Given the description of an element on the screen output the (x, y) to click on. 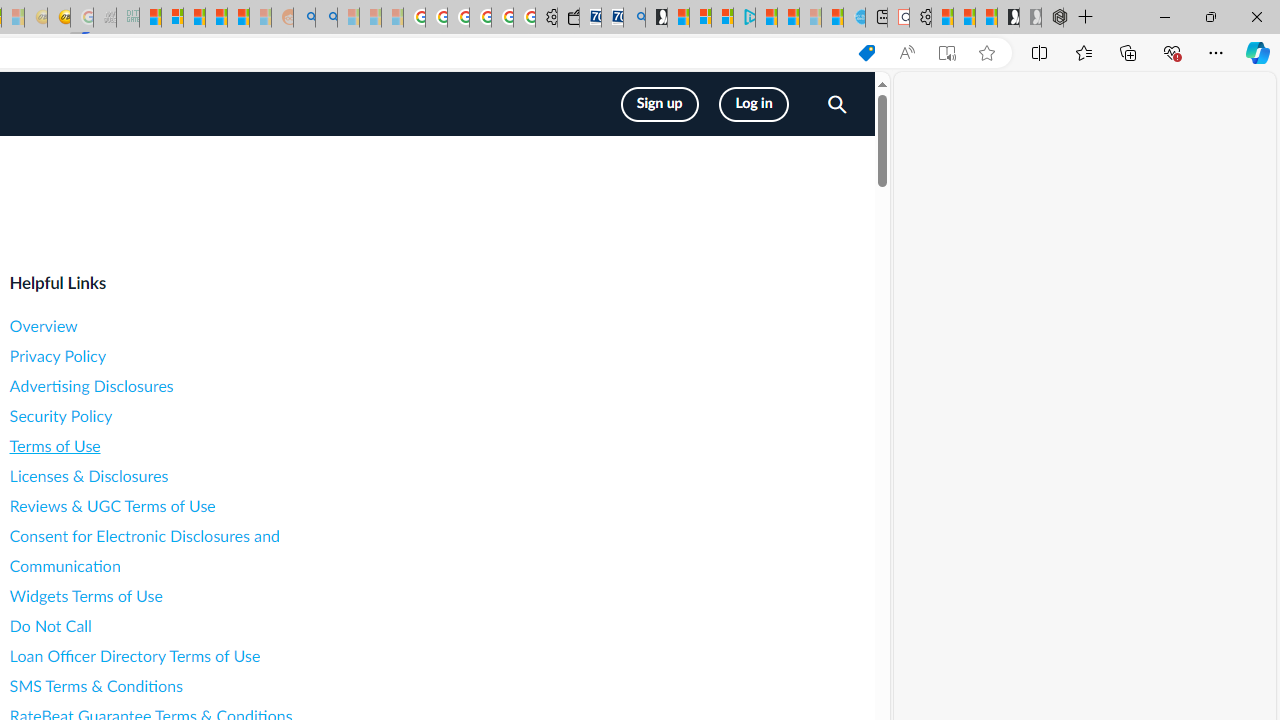
Wallet (568, 17)
